Given the description of an element on the screen output the (x, y) to click on. 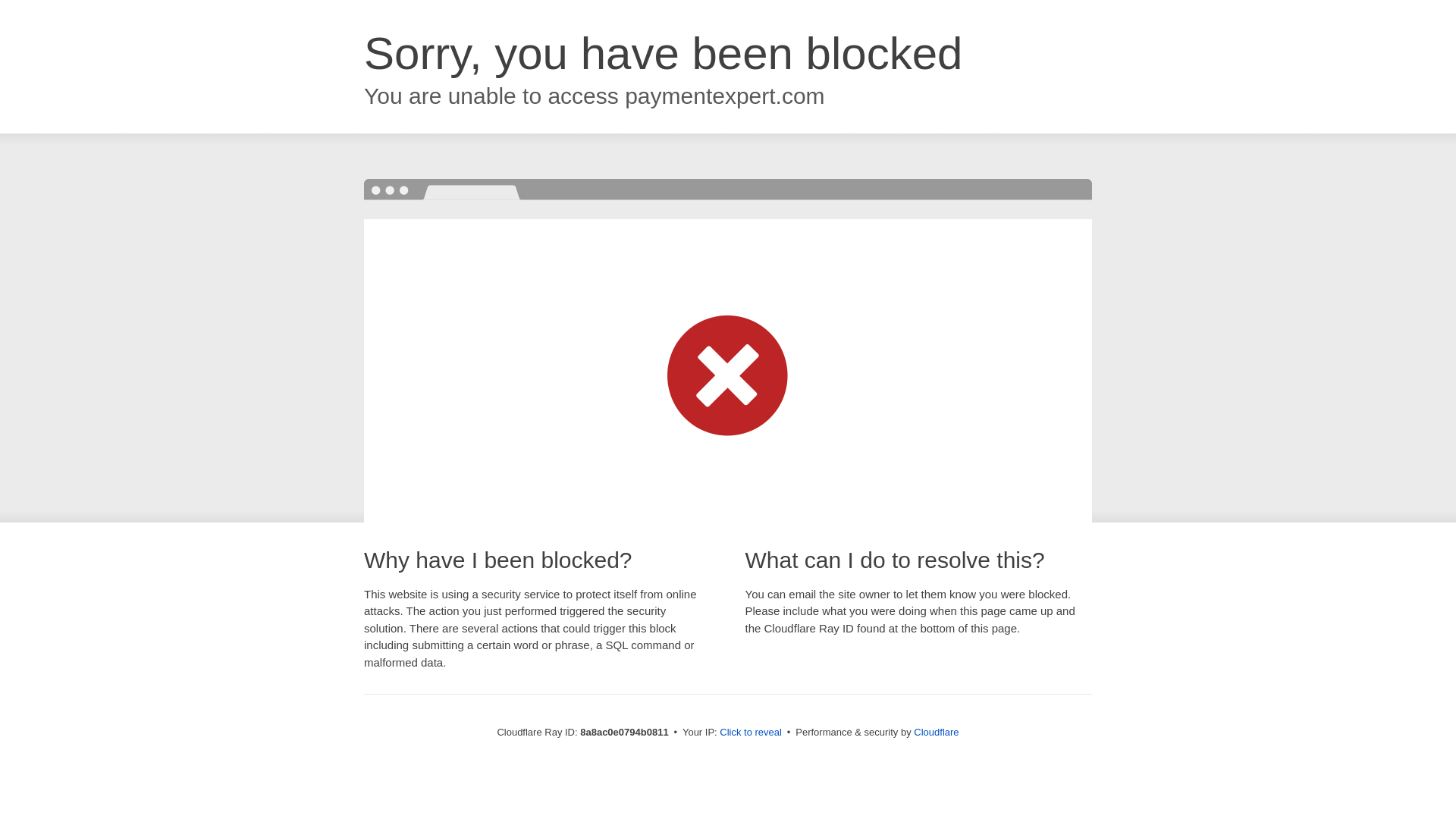
Cloudflare (936, 731)
Click to reveal (750, 732)
